Given the description of an element on the screen output the (x, y) to click on. 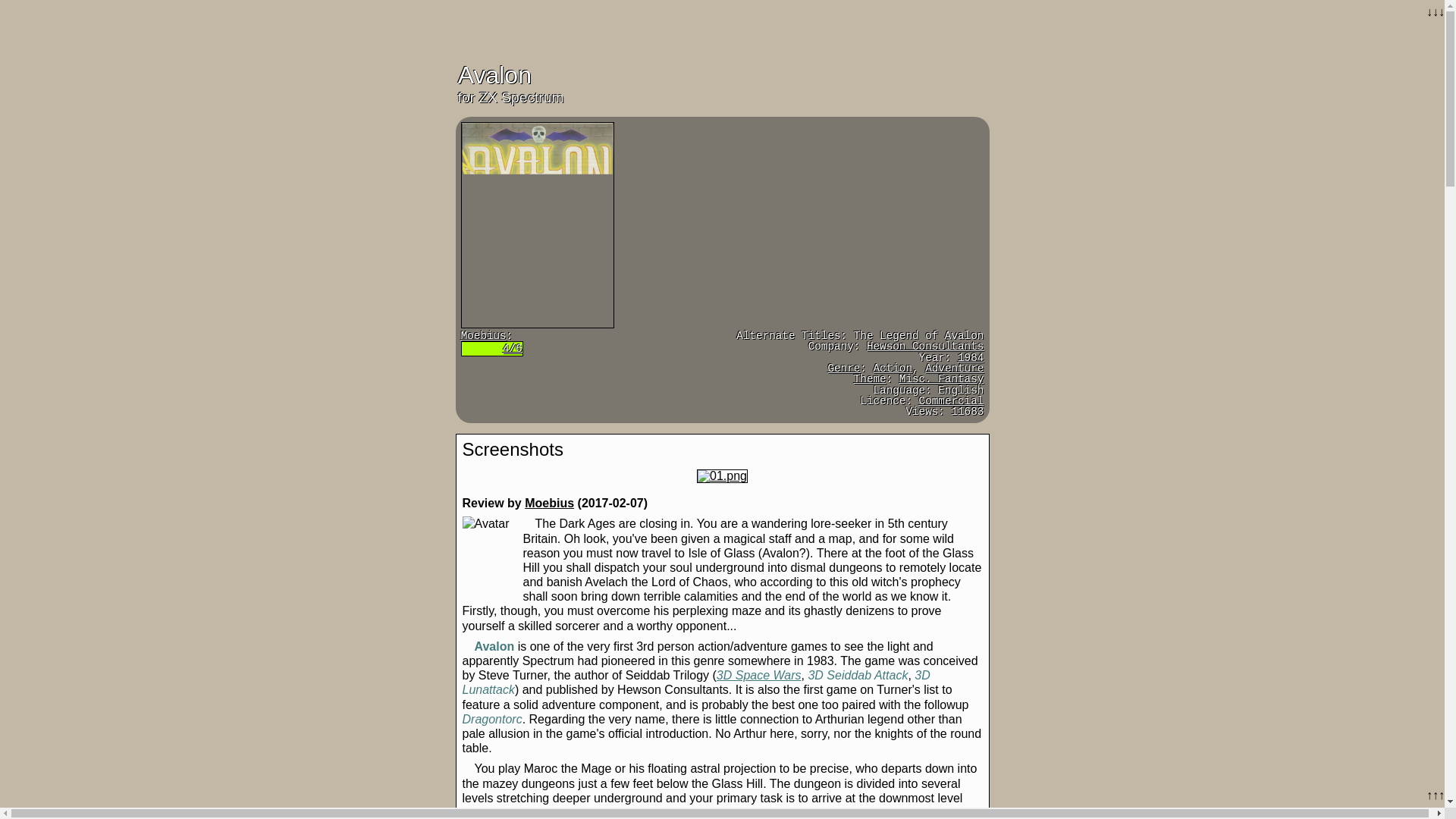
Action (891, 368)
Moebius (548, 502)
ZX Spectrum (521, 97)
Commercial (951, 400)
Moebius (483, 336)
1984 (971, 357)
? (843, 368)
Theme (869, 378)
Adventure (954, 368)
Misc. Fantasy (941, 378)
